Given the description of an element on the screen output the (x, y) to click on. 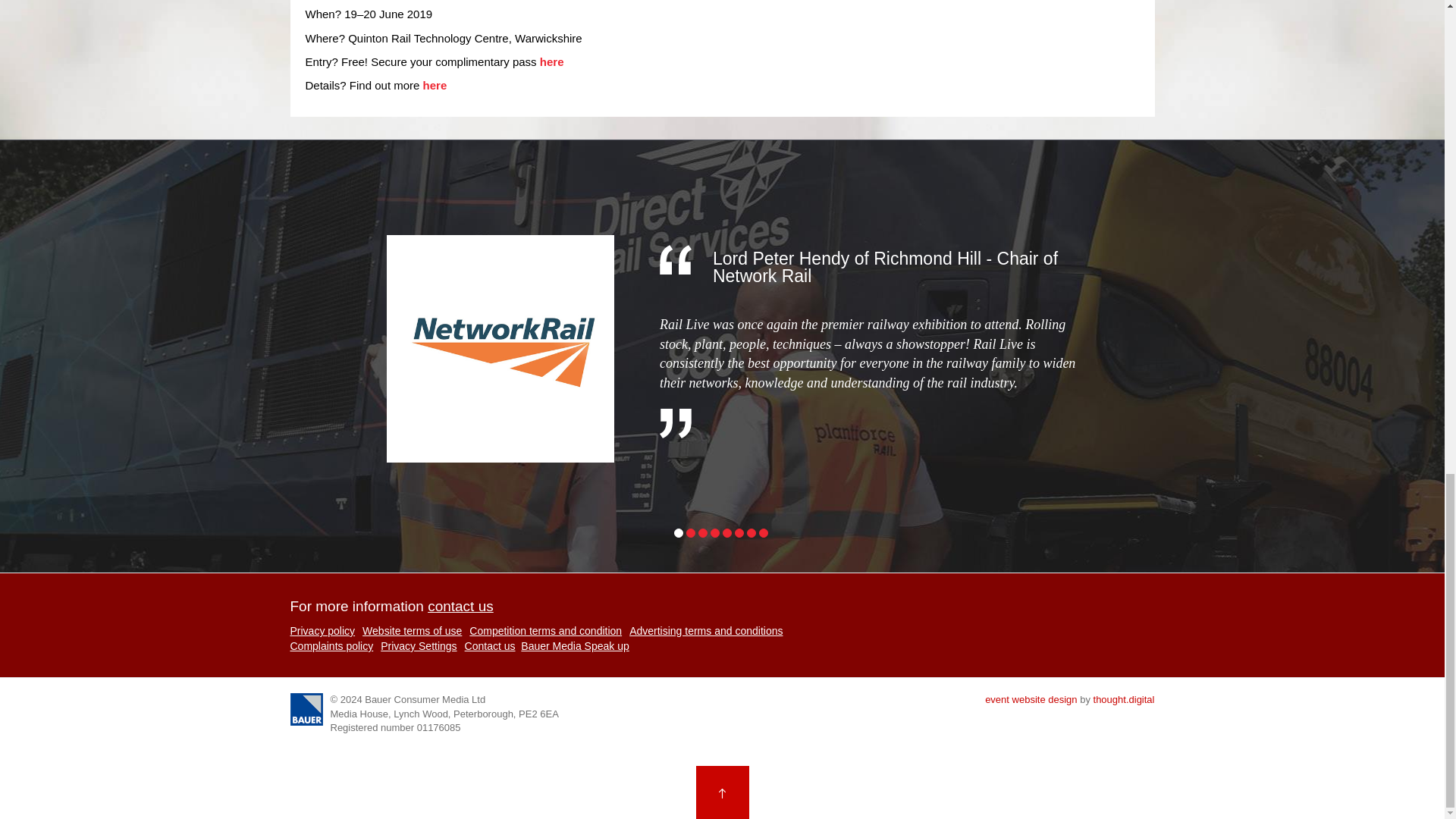
event website design (1031, 699)
Bauer (305, 708)
Network Rail (500, 348)
website design newcastle (1123, 699)
